Given the description of an element on the screen output the (x, y) to click on. 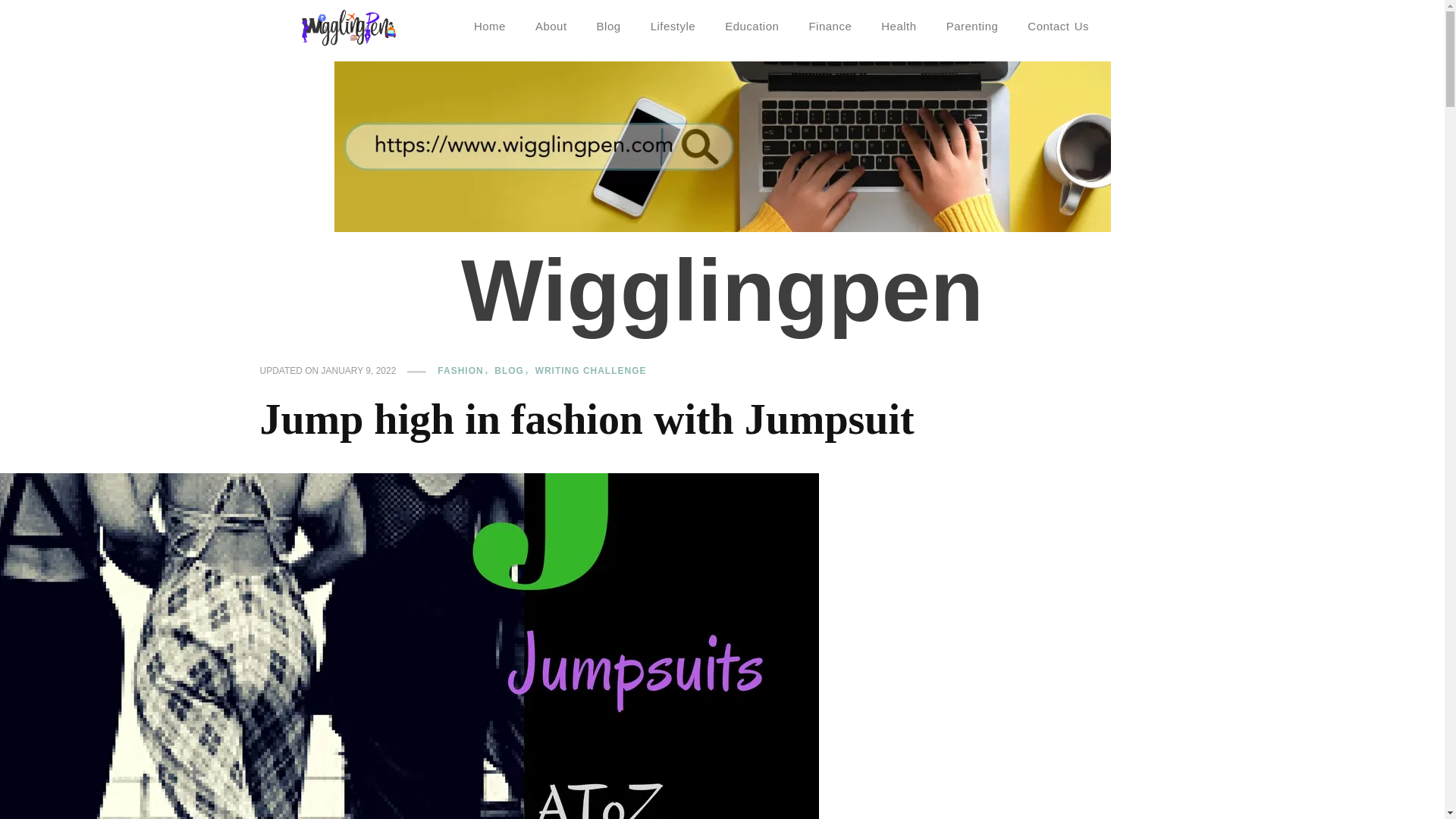
Blog (608, 26)
Home (489, 26)
Finance (829, 26)
BLOG (513, 371)
JANUARY 9, 2022 (358, 371)
FASHION (465, 371)
About (550, 26)
Contact Us (1057, 26)
Parenting (972, 26)
Lifestyle (673, 26)
WRITING CHALLENGE (590, 371)
Health (898, 26)
Education (751, 26)
